Given the description of an element on the screen output the (x, y) to click on. 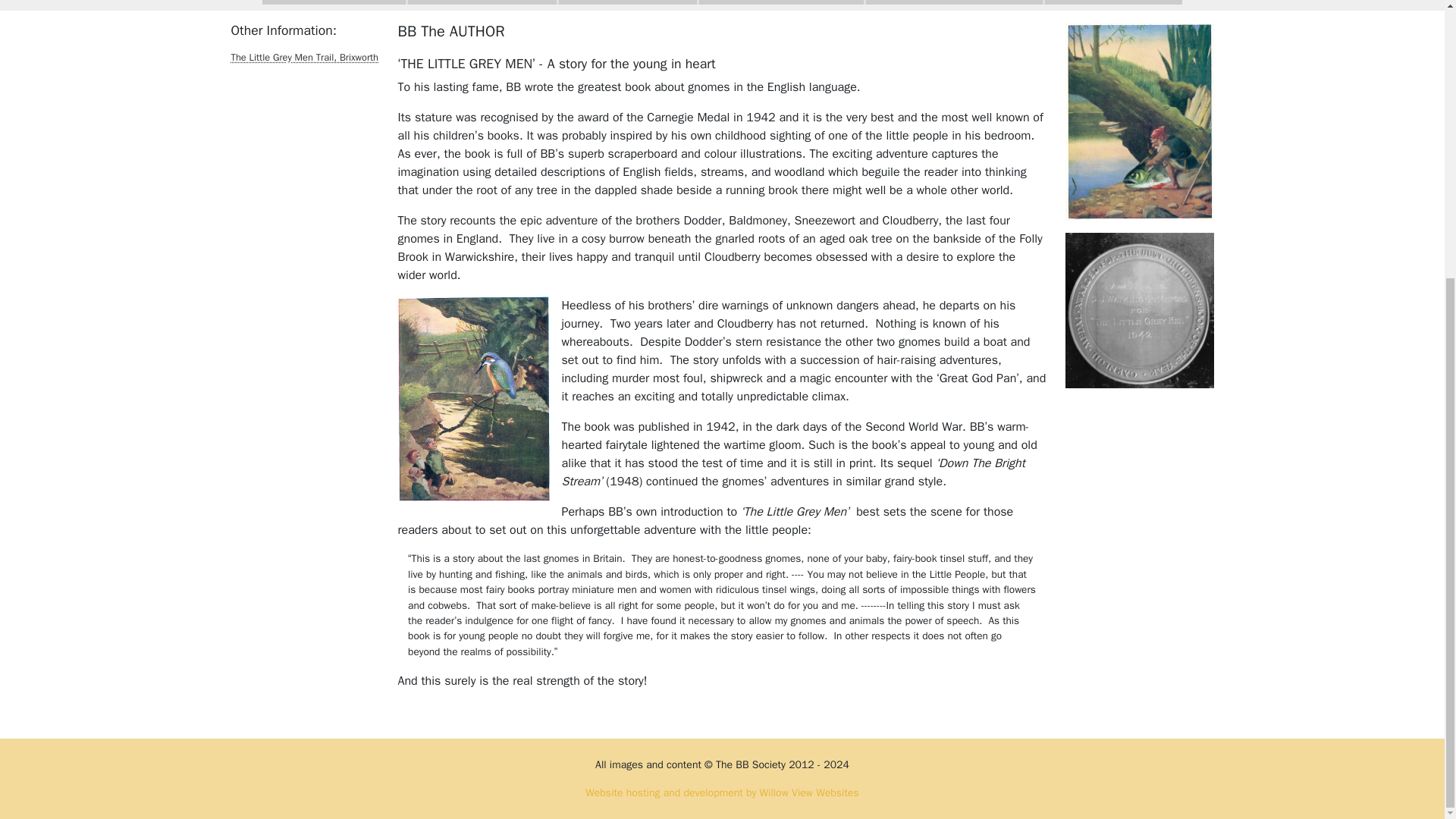
BB The Author (481, 2)
Website hosting and development by Willow View Websites (722, 792)
BB Biography (334, 2)
The Little Grey Men Trail, Brixworth (304, 57)
BB The Illustrator (780, 2)
BB The Countryman (954, 2)
BB The Poet (628, 2)
Bibliography (1112, 2)
